Given the description of an element on the screen output the (x, y) to click on. 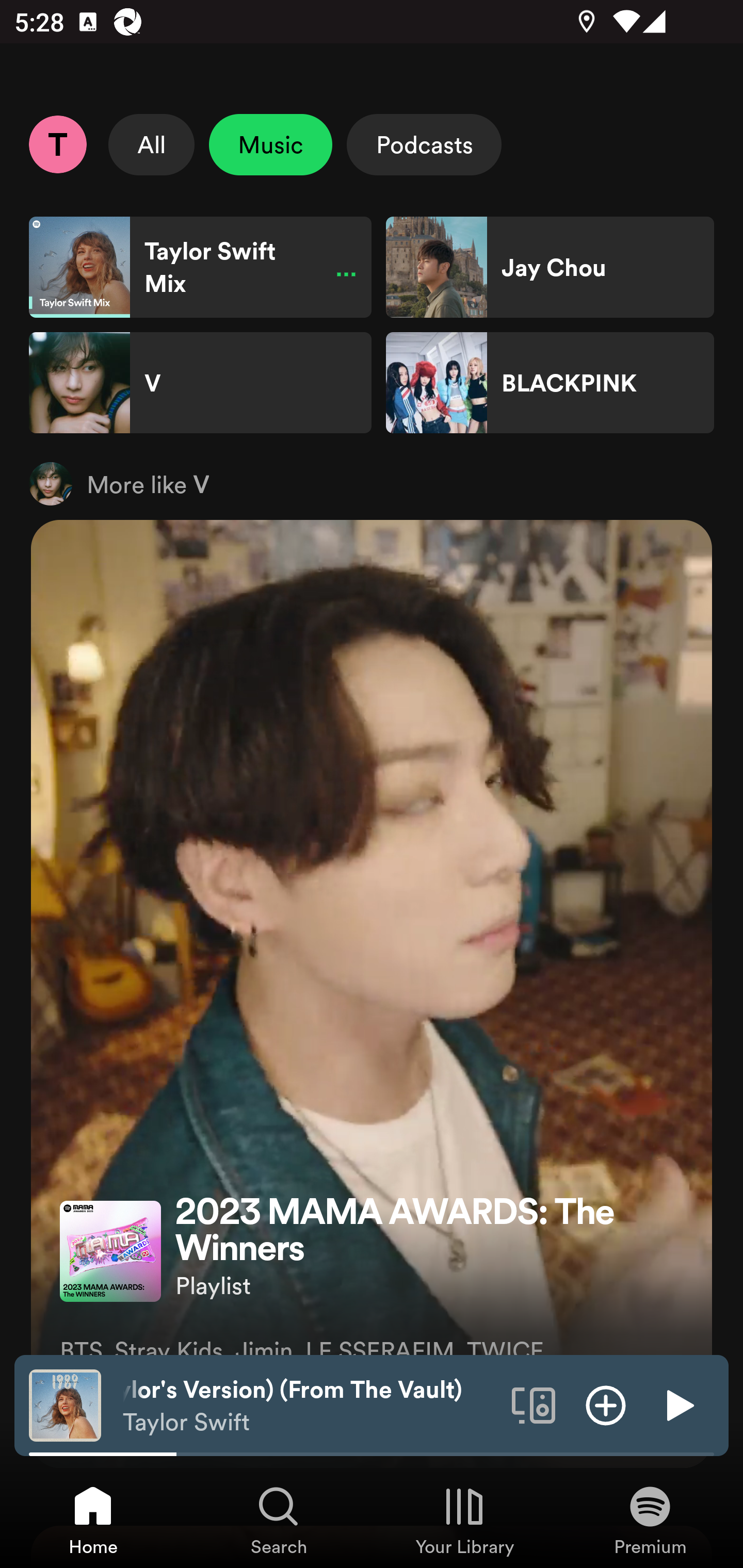
Profile (57, 144)
All Select All (151, 144)
Music Unselect Music (270, 144)
Podcasts Select Podcasts (423, 144)
Taylor Swift Mix Shortcut Taylor Swift Mix Paused (199, 267)
Jay Chou Shortcut Jay Chou (549, 267)
V Shortcut V (199, 382)
BLACKPINK Shortcut BLACKPINK (549, 382)
More like V (371, 483)
The cover art of the currently playing track (64, 1404)
Connect to a device. Opens the devices menu (533, 1404)
Add item (605, 1404)
Play (677, 1404)
Home, Tab 1 of 4 Home Home (92, 1519)
Search, Tab 2 of 4 Search Search (278, 1519)
Your Library, Tab 3 of 4 Your Library Your Library (464, 1519)
Premium, Tab 4 of 4 Premium Premium (650, 1519)
